Given the description of an element on the screen output the (x, y) to click on. 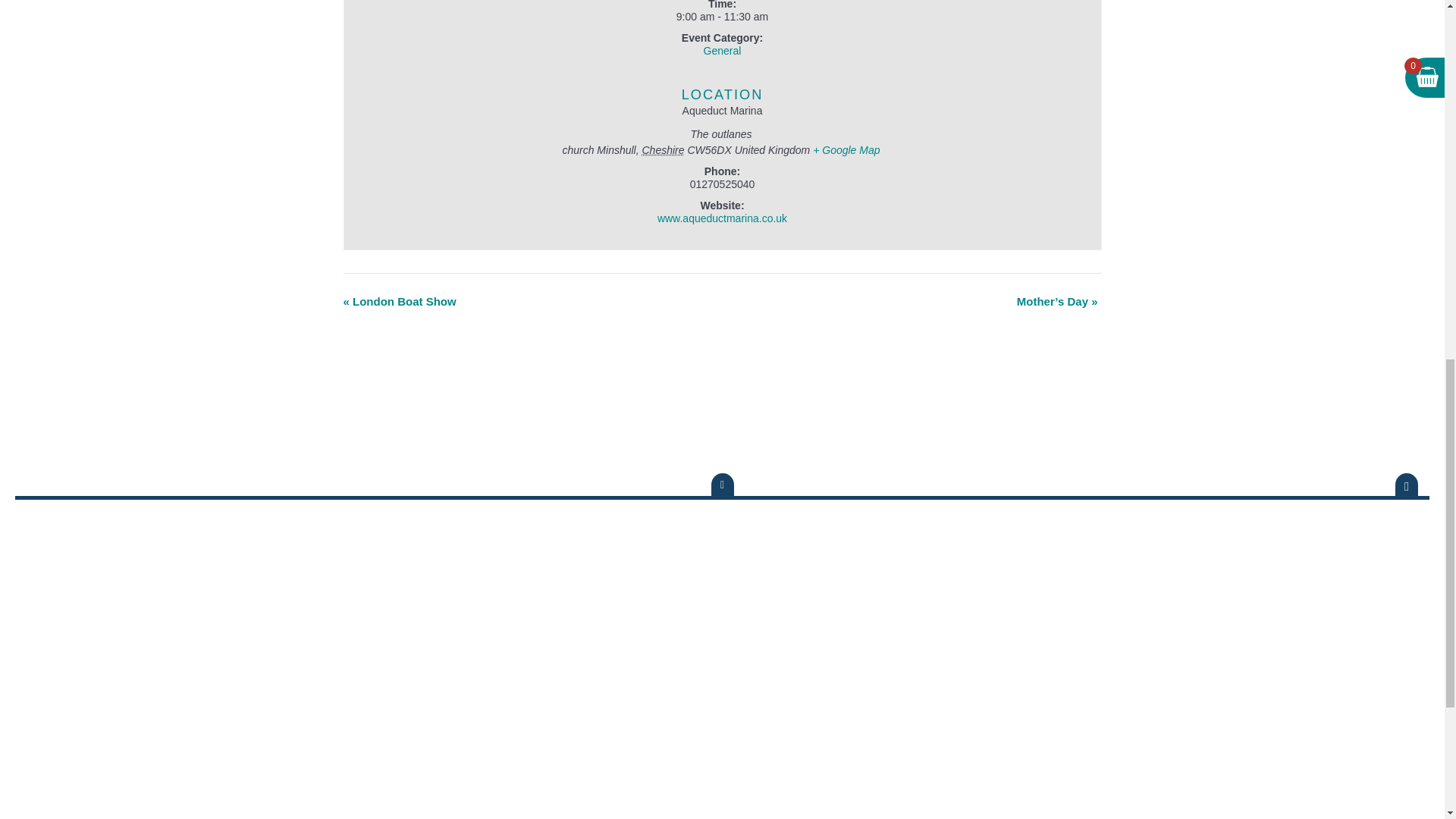
Click to view a Google Map (845, 150)
Cheshire (663, 150)
2018-01-27 (722, 17)
